Given the description of an element on the screen output the (x, y) to click on. 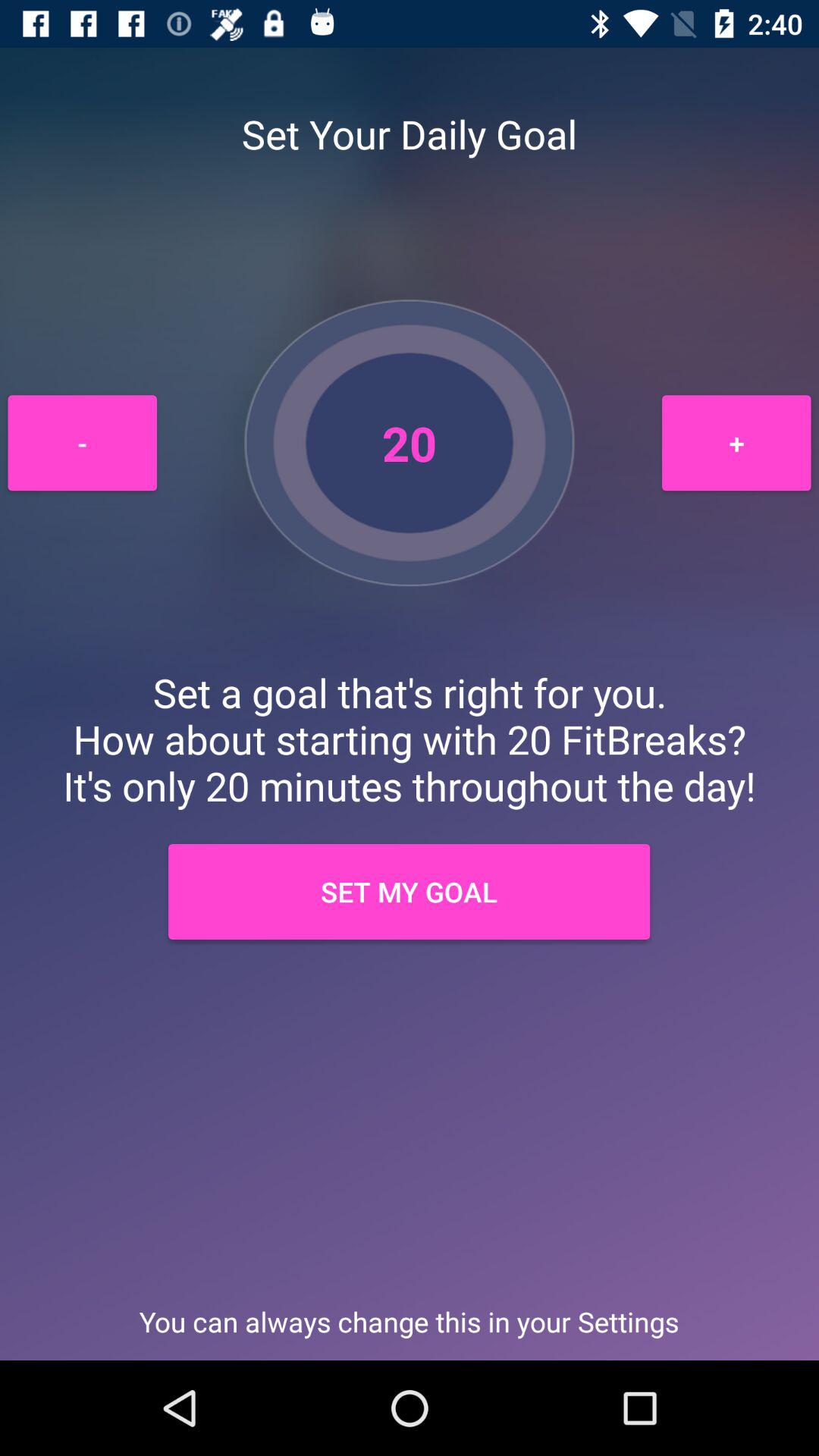
turn off the item next to 20 icon (82, 442)
